Given the description of an element on the screen output the (x, y) to click on. 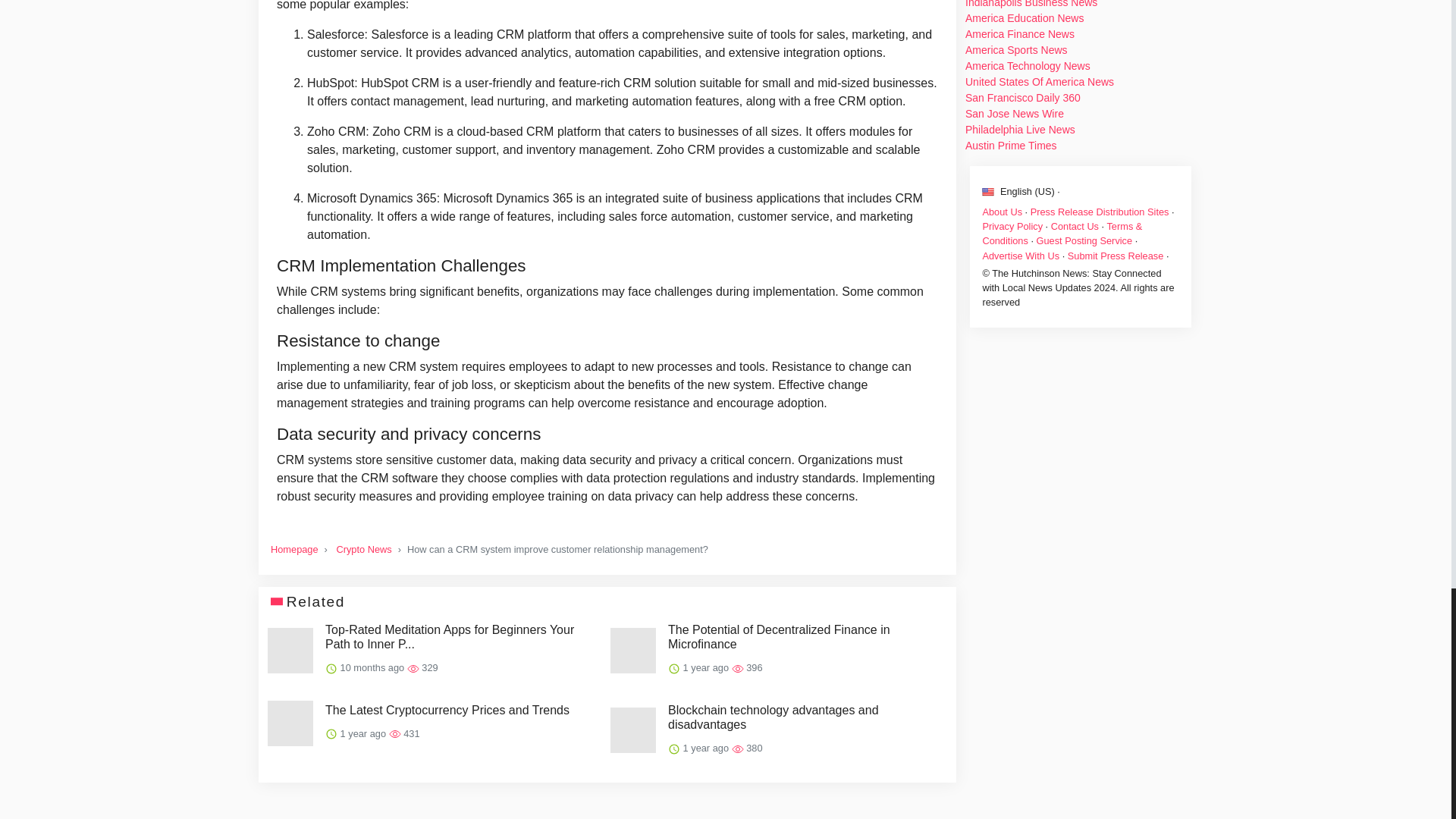
The Potential of Decentralized Finance in Microfinance (804, 636)
The Latest Cryptocurrency Prices and Trends (446, 709)
The Potential of Decentralized Finance in Microfinance (804, 636)
Blockchain technology advantages and disadvantages (804, 717)
Crypto News (363, 549)
Homepage (294, 549)
The Latest Cryptocurrency Prices and Trends (446, 709)
Blockchain technology advantages and disadvantages (804, 717)
